Given the description of an element on the screen output the (x, y) to click on. 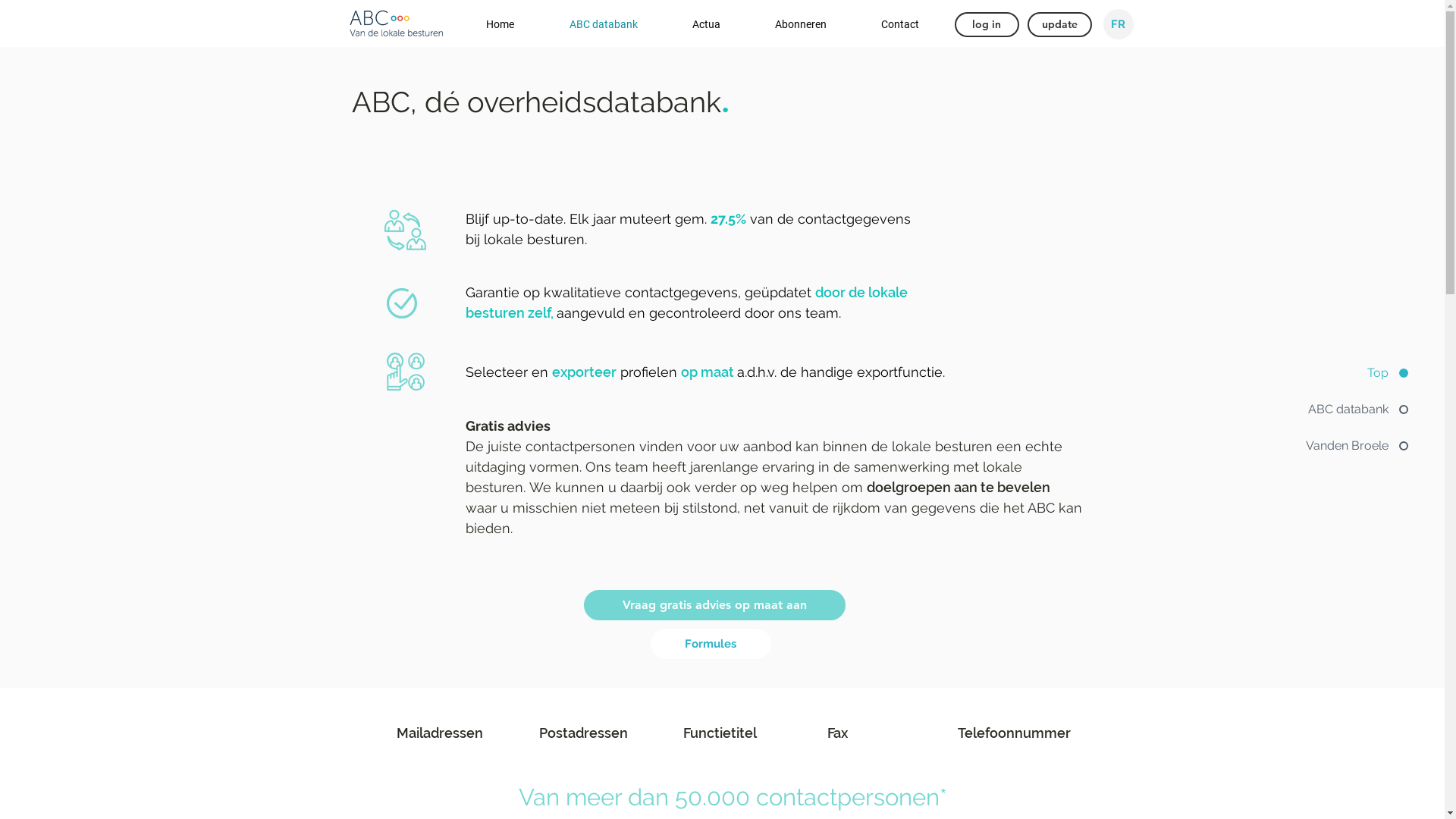
log in Element type: text (985, 24)
update Element type: text (1058, 24)
Vraag gratis advies op maat aan Element type: text (714, 604)
Home Element type: text (482, 22)
Actua Element type: text (690, 22)
FR Element type: text (1117, 24)
Formules Element type: text (710, 643)
ABC databank Element type: text (1353, 409)
Top Element type: text (1353, 372)
exportfunctie. Element type: text (900, 371)
Abonneren Element type: text (784, 22)
Contact Element type: text (883, 22)
Vanden Broele Element type: text (1353, 445)
ABC databank Element type: text (586, 22)
